Given the description of an element on the screen output the (x, y) to click on. 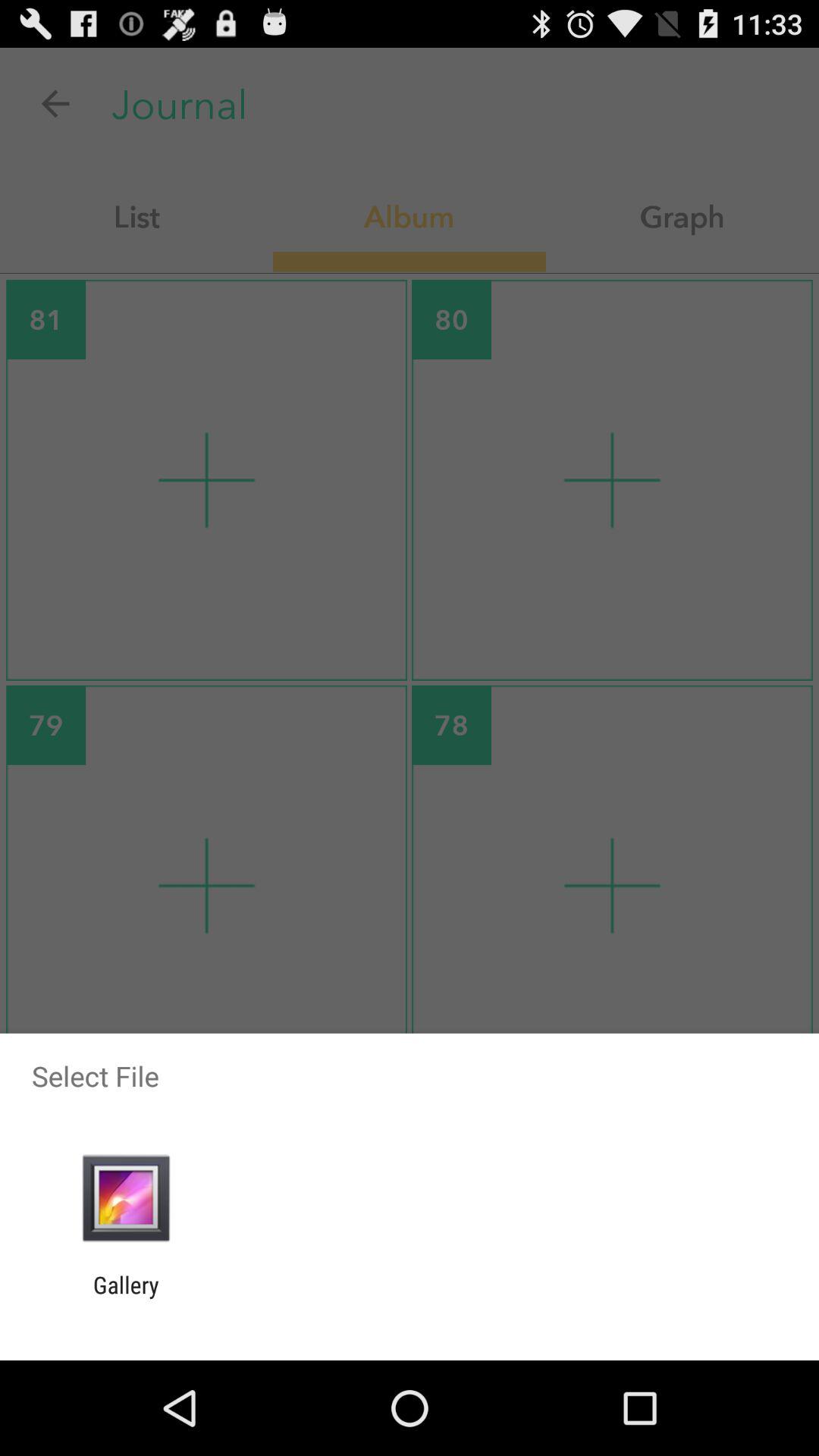
turn on gallery (126, 1298)
